Given the description of an element on the screen output the (x, y) to click on. 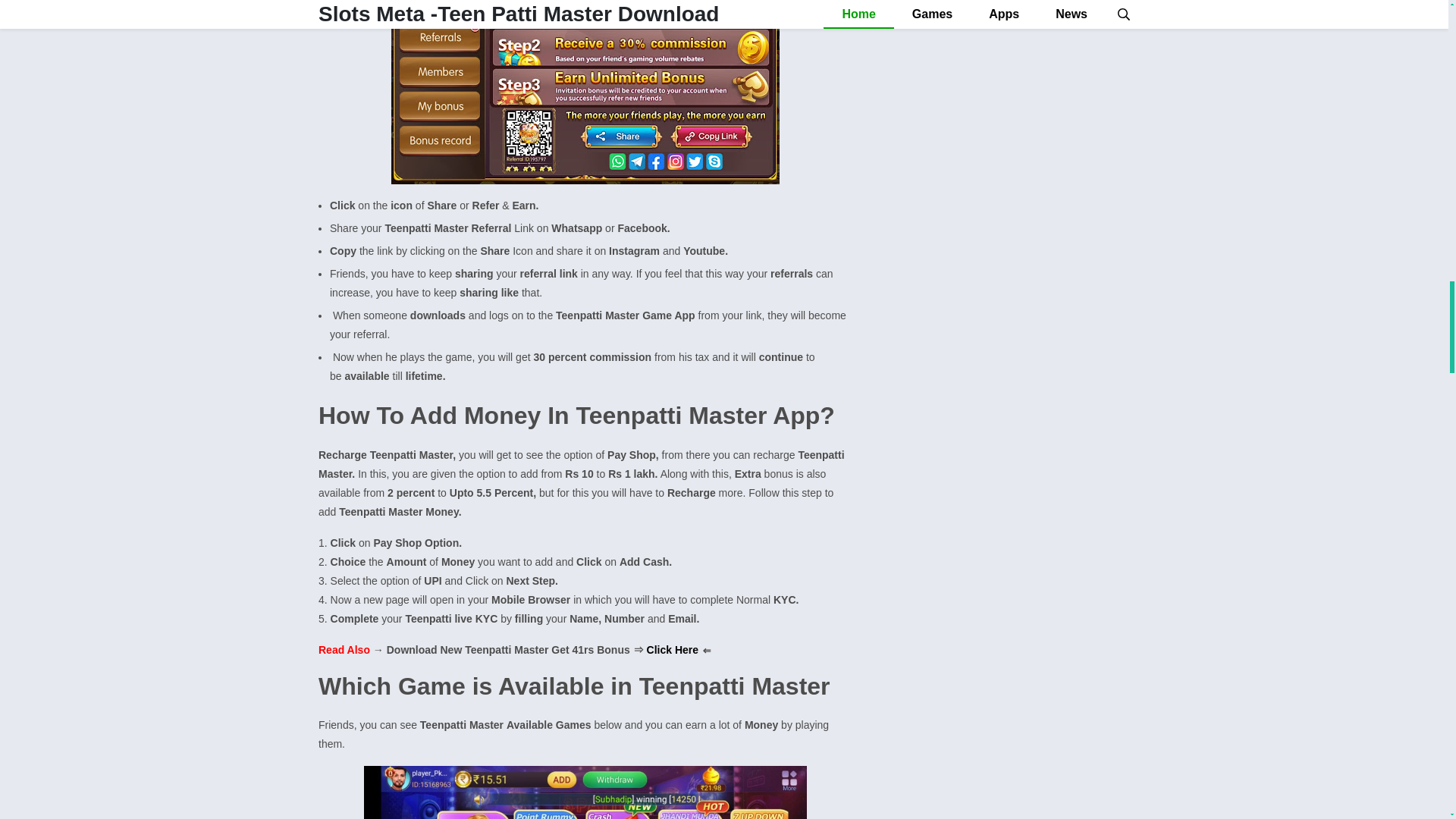
Click Here (672, 649)
